Given the description of an element on the screen output the (x, y) to click on. 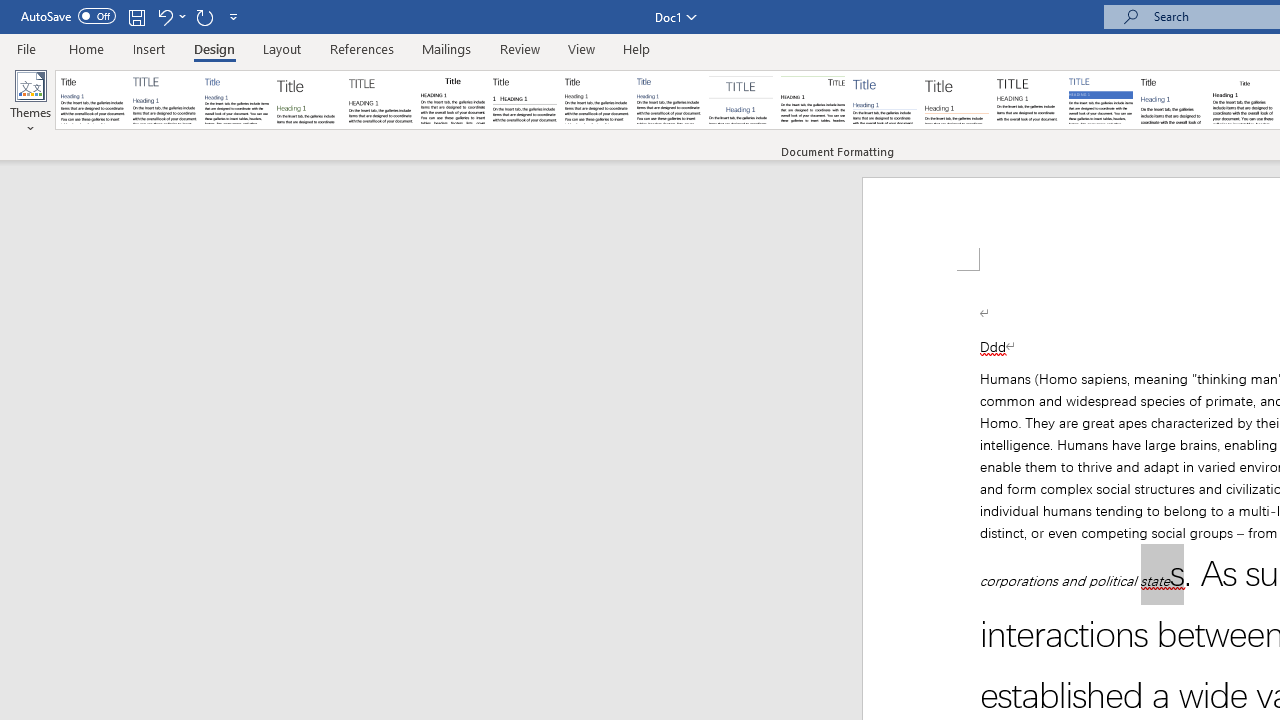
Save (136, 15)
Help (637, 48)
Undo Apply Quick Style Set (170, 15)
Document (93, 100)
Insert (149, 48)
Black & White (Capitalized) (381, 100)
AutoSave (68, 16)
References (362, 48)
